Given the description of an element on the screen output the (x, y) to click on. 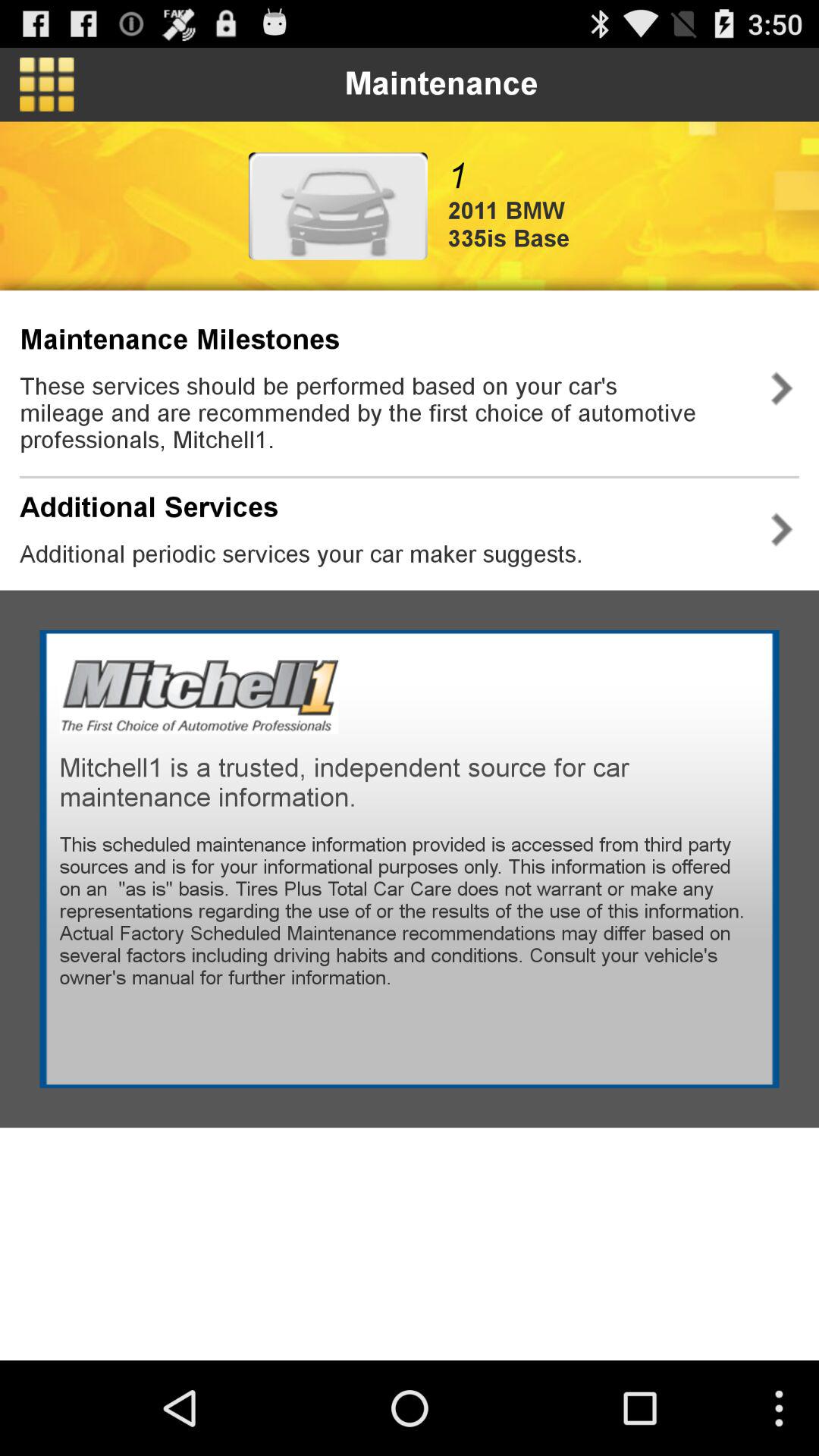
press item below maintenance milestones app (382, 413)
